Given the description of an element on the screen output the (x, y) to click on. 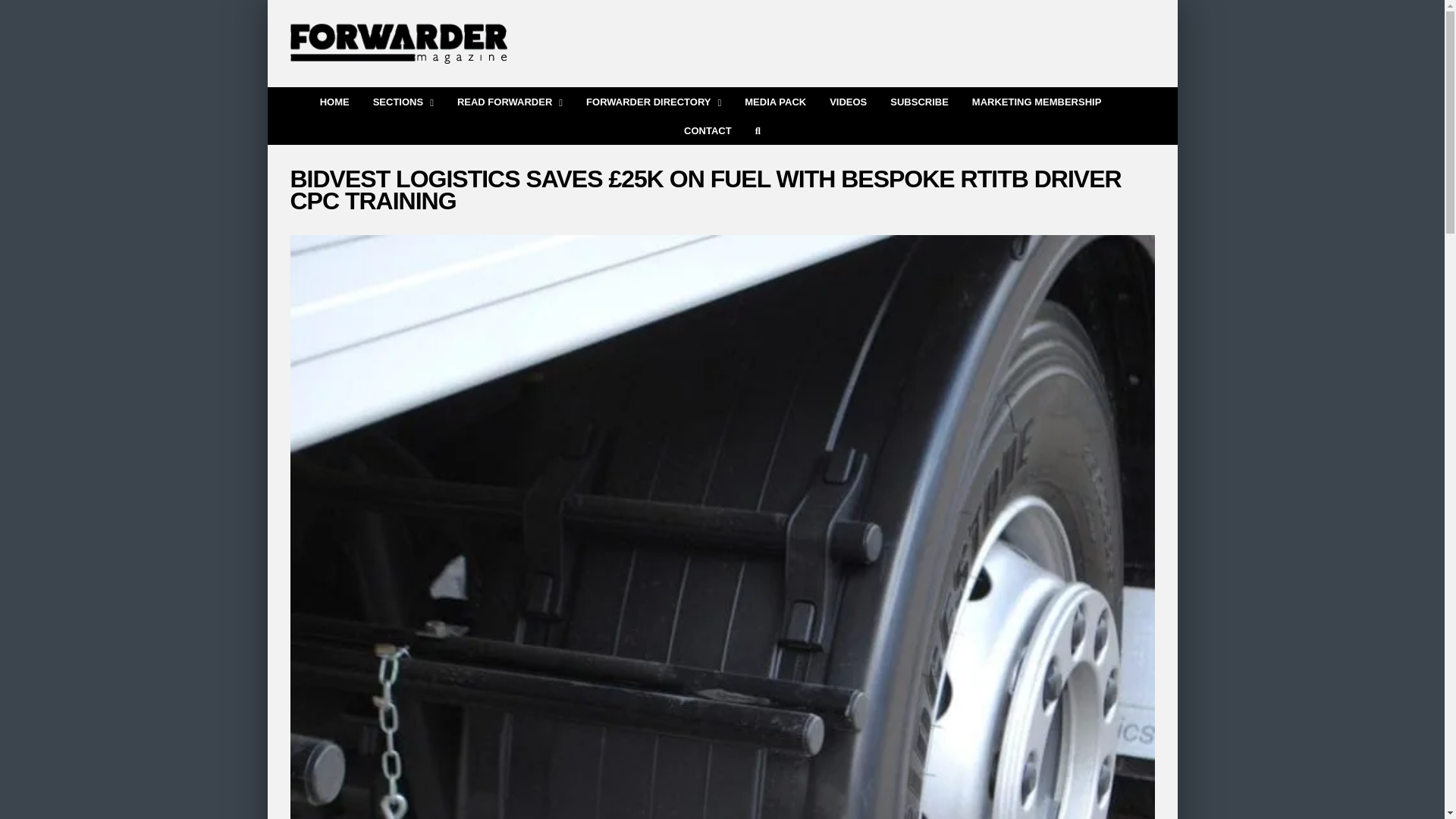
MEDIA PACK (775, 100)
HOME (334, 100)
READ FORWARDER (509, 100)
CONTACT (708, 129)
SUBSCRIBE (919, 100)
VIDEOS (847, 100)
MARKETING MEMBERSHIP (1036, 100)
SECTIONS (402, 100)
FORWARDER DIRECTORY (653, 100)
